Given the description of an element on the screen output the (x, y) to click on. 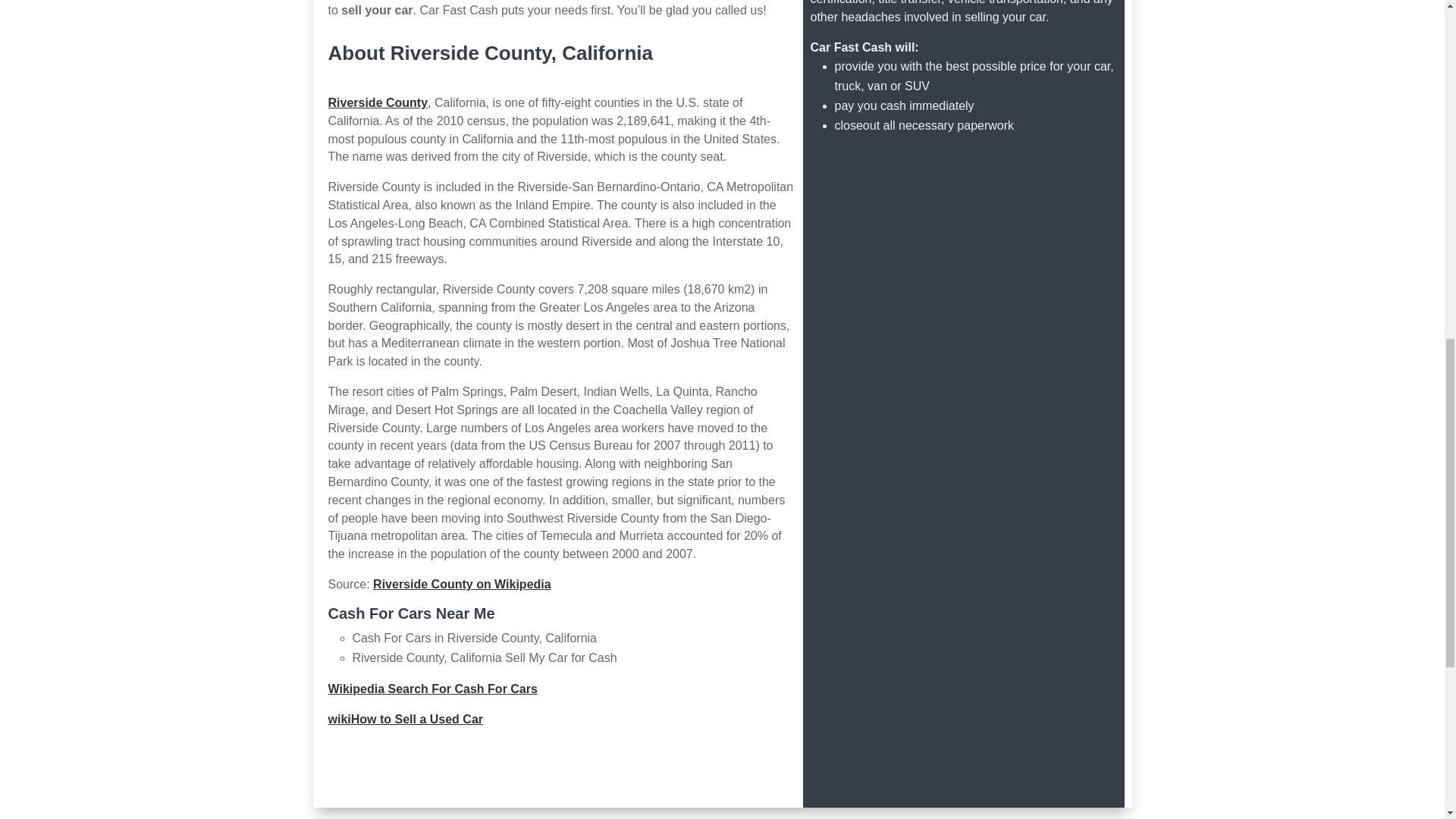
Riverside County (377, 102)
Riverside County on Wikipedia (461, 584)
Wikipedia Search For Cash For Cars (432, 688)
wikiHow to Sell a Used Car (405, 718)
